Given the description of an element on the screen output the (x, y) to click on. 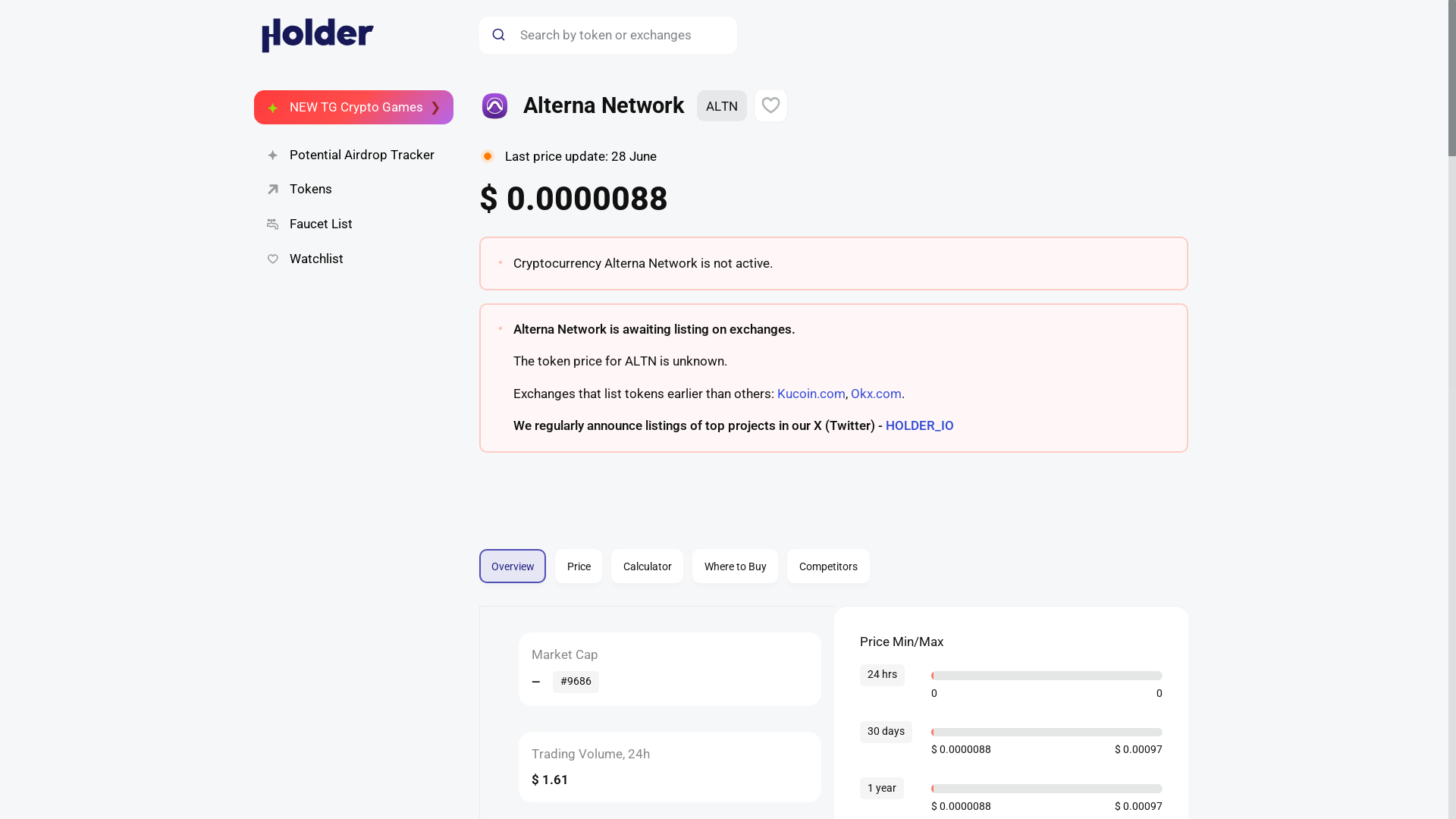
Kucoin.com (810, 393)
Competitors (833, 555)
Where to Buy (828, 565)
Watchlist (735, 565)
Overview (352, 258)
alternanetwork.org (512, 565)
Faucet List (543, 557)
Price (352, 224)
Calculator (578, 565)
